Given the description of an element on the screen output the (x, y) to click on. 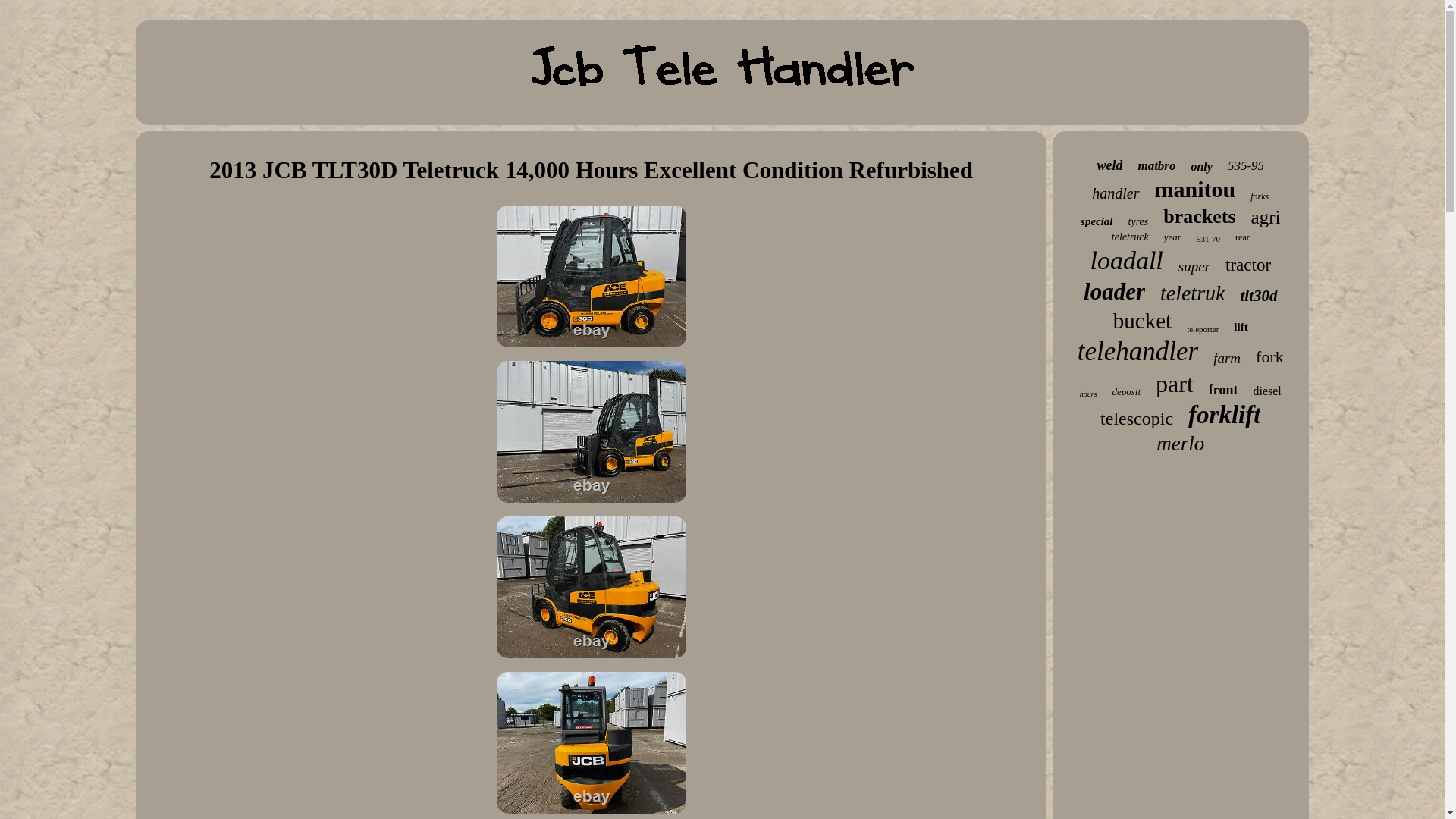
year (1171, 236)
hours (1088, 393)
super (1193, 266)
loader (1113, 291)
teleporter (1202, 328)
loadall (1125, 260)
tlt30d (1258, 295)
teletruk (1192, 293)
